Given the description of an element on the screen output the (x, y) to click on. 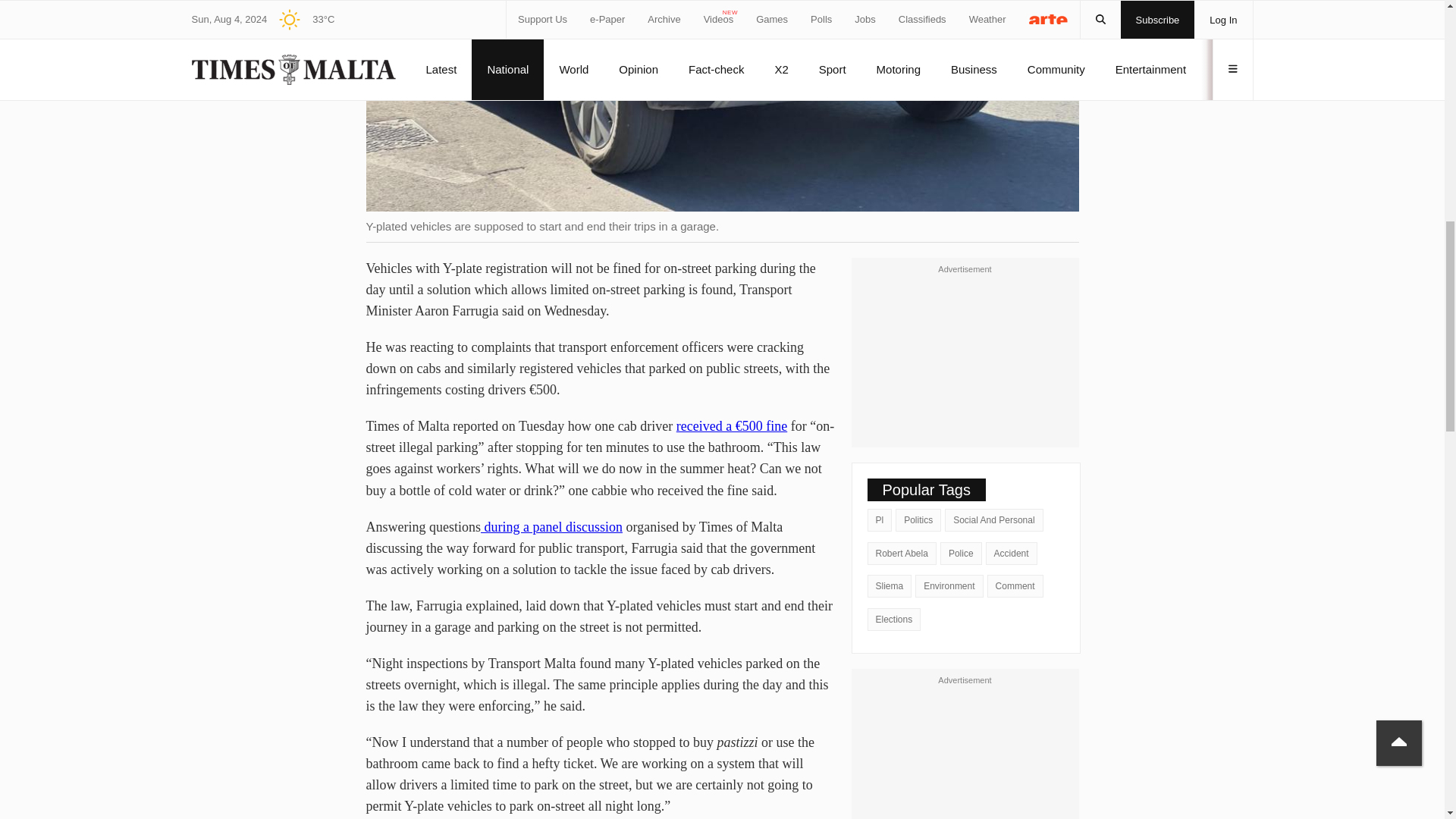
during a panel discussion (551, 526)
Pl (879, 519)
Politics (917, 519)
